Given the description of an element on the screen output the (x, y) to click on. 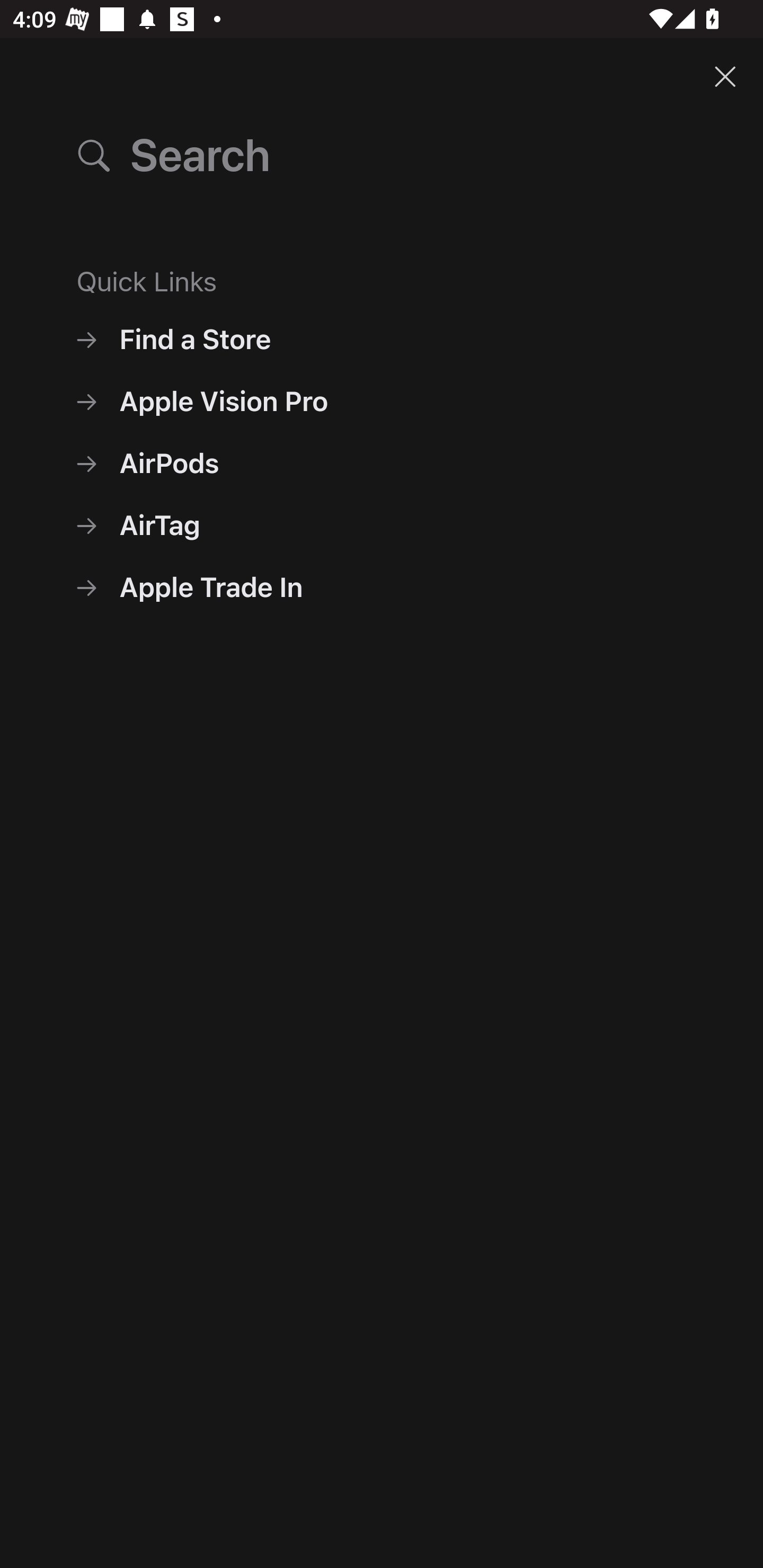
Close (724, 75)
Find a Store (381, 339)
Apple Vision Pro (381, 401)
AirPods (381, 463)
AirTag (381, 524)
Apple Trade In (381, 587)
